Given the description of an element on the screen output the (x, y) to click on. 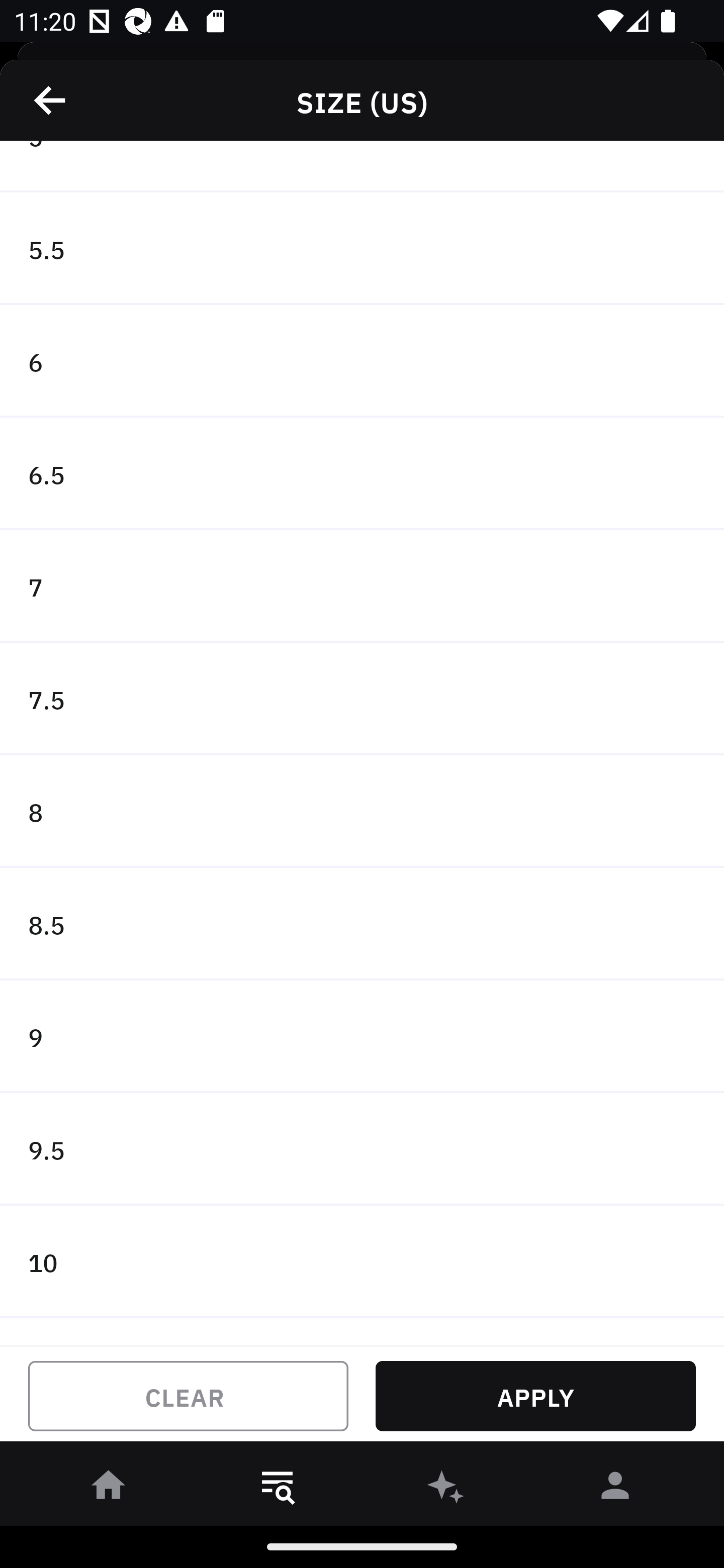
 (50, 100)
5.5 (362, 248)
6 (362, 361)
6.5 (362, 473)
7 (362, 585)
7.5 (362, 698)
8 (362, 811)
8.5 (362, 924)
9 (362, 1036)
9.5 (362, 1148)
10 (362, 1261)
CLEAR  (188, 1396)
APPLY (535, 1396)
󰋜 (108, 1488)
󱎸 (277, 1488)
󰫢 (446, 1488)
󰀄 (615, 1488)
